Given the description of an element on the screen output the (x, y) to click on. 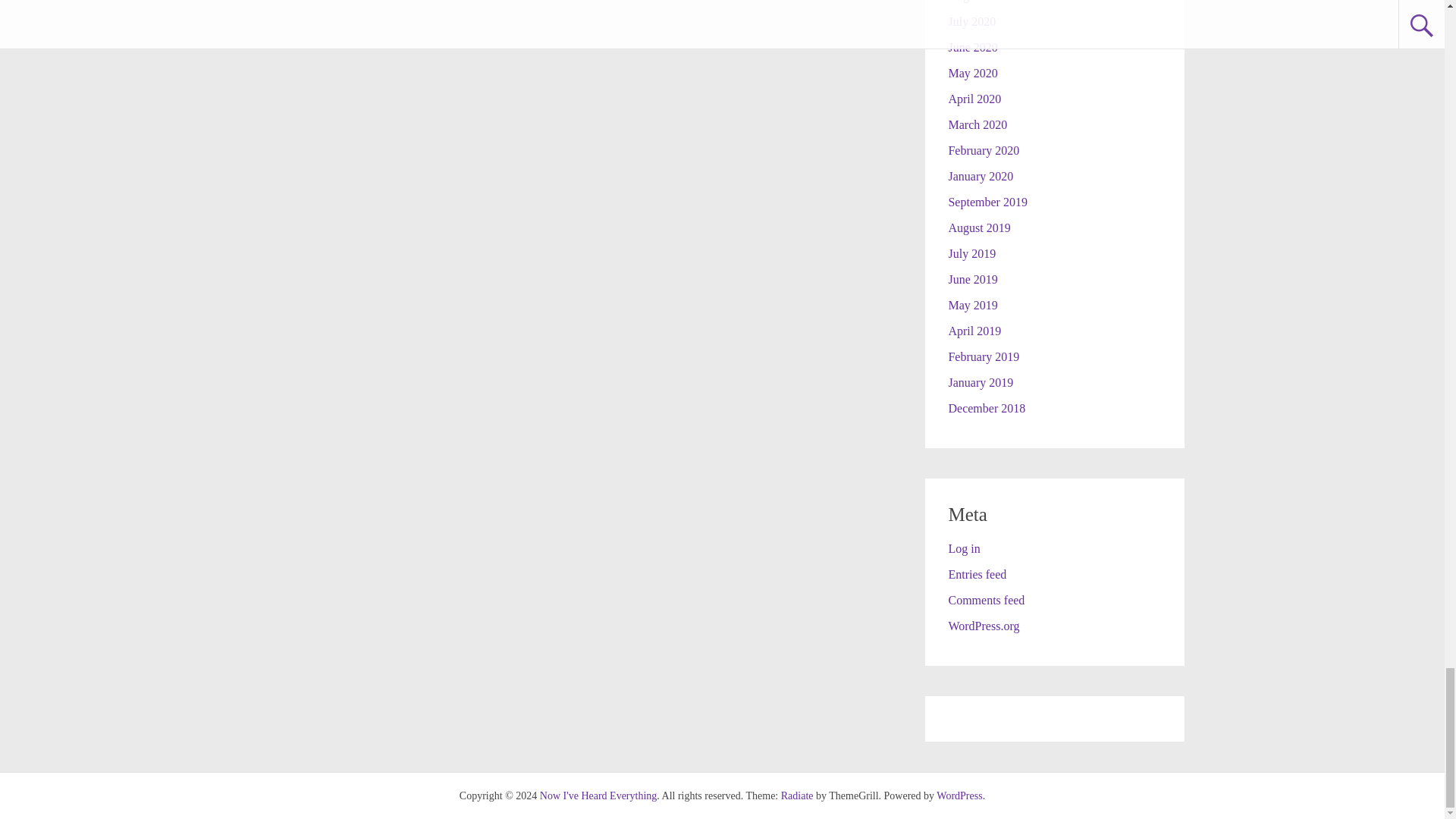
WordPress (958, 795)
Radiate (796, 795)
Now I've Heard Everything (599, 795)
